Given the description of an element on the screen output the (x, y) to click on. 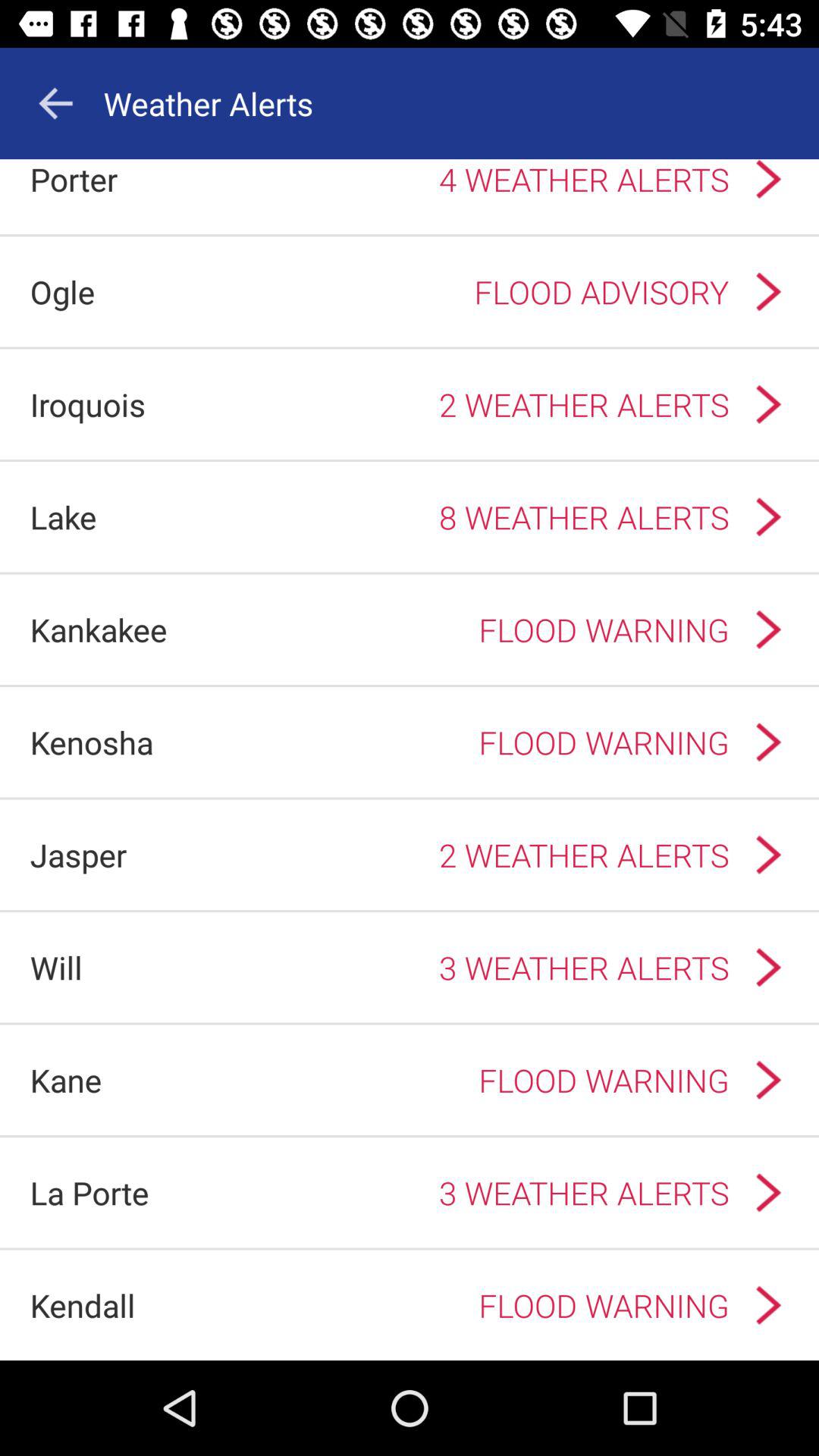
choose icon above lake (87, 403)
